Given the description of an element on the screen output the (x, y) to click on. 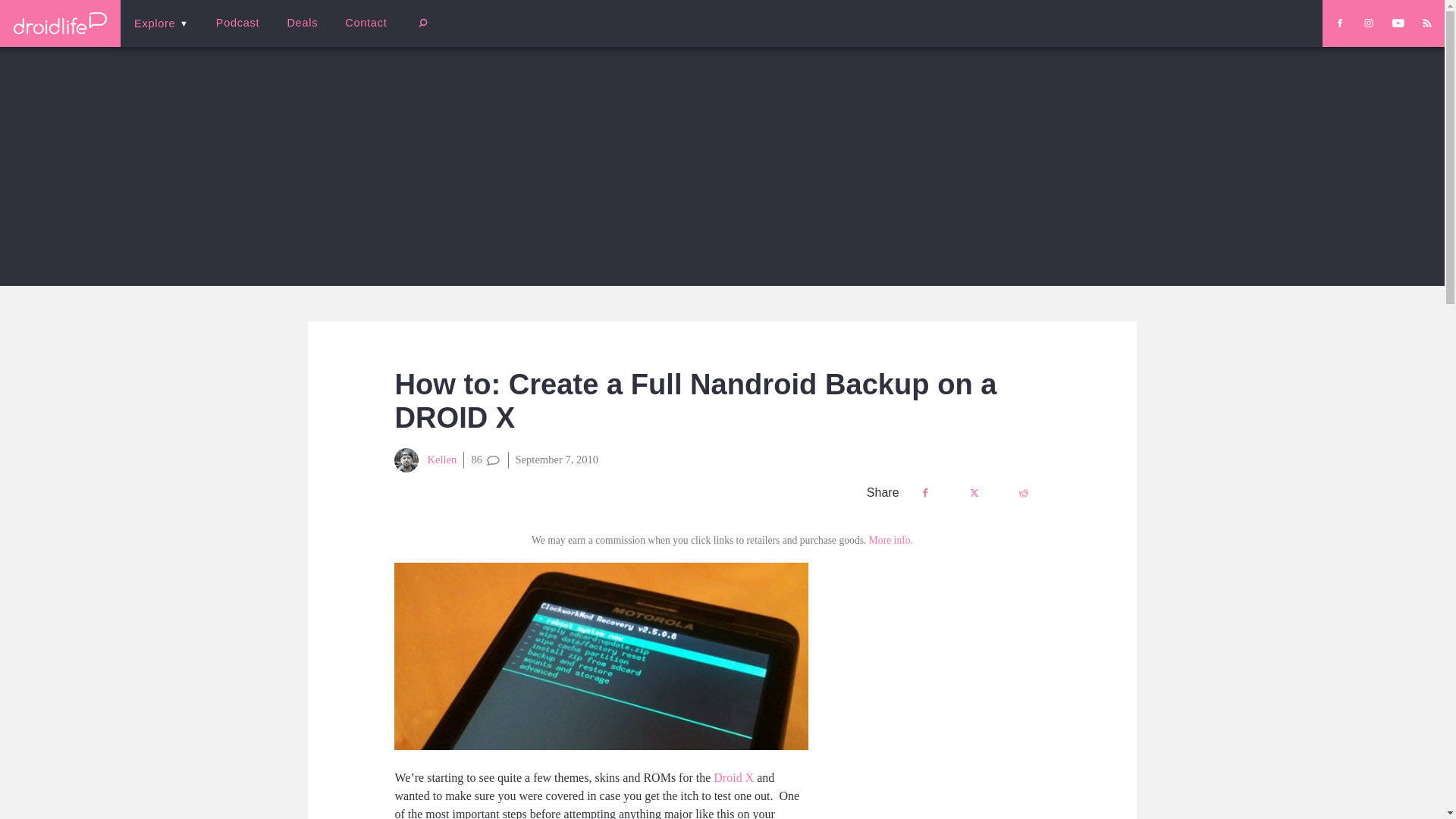
Deals (302, 23)
Droid Life on YouTube (1398, 23)
Droid Life on Instagram (1368, 23)
droid x recovery (601, 656)
Contact (365, 23)
Podcast (237, 23)
Explore (161, 23)
Beginners' Guide (360, 33)
Kellen (425, 459)
Droid Life RSS (1426, 23)
Droid Life on Facebook (1339, 23)
